Given the description of an element on the screen output the (x, y) to click on. 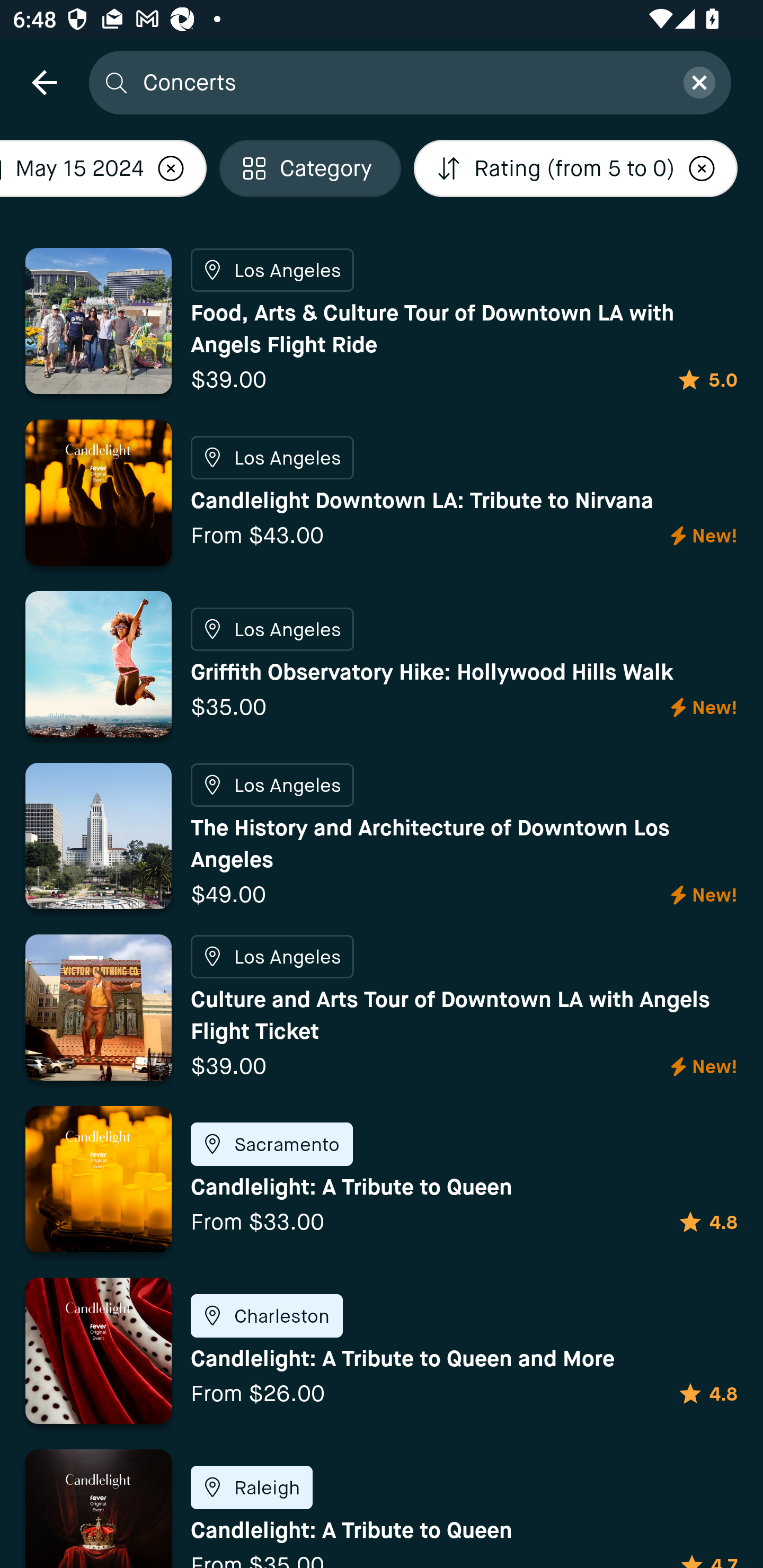
navigation icon (44, 81)
Concerts (402, 81)
Localized description (170, 168)
Localized description Category (310, 168)
Localized description (701, 168)
